Given the description of an element on the screen output the (x, y) to click on. 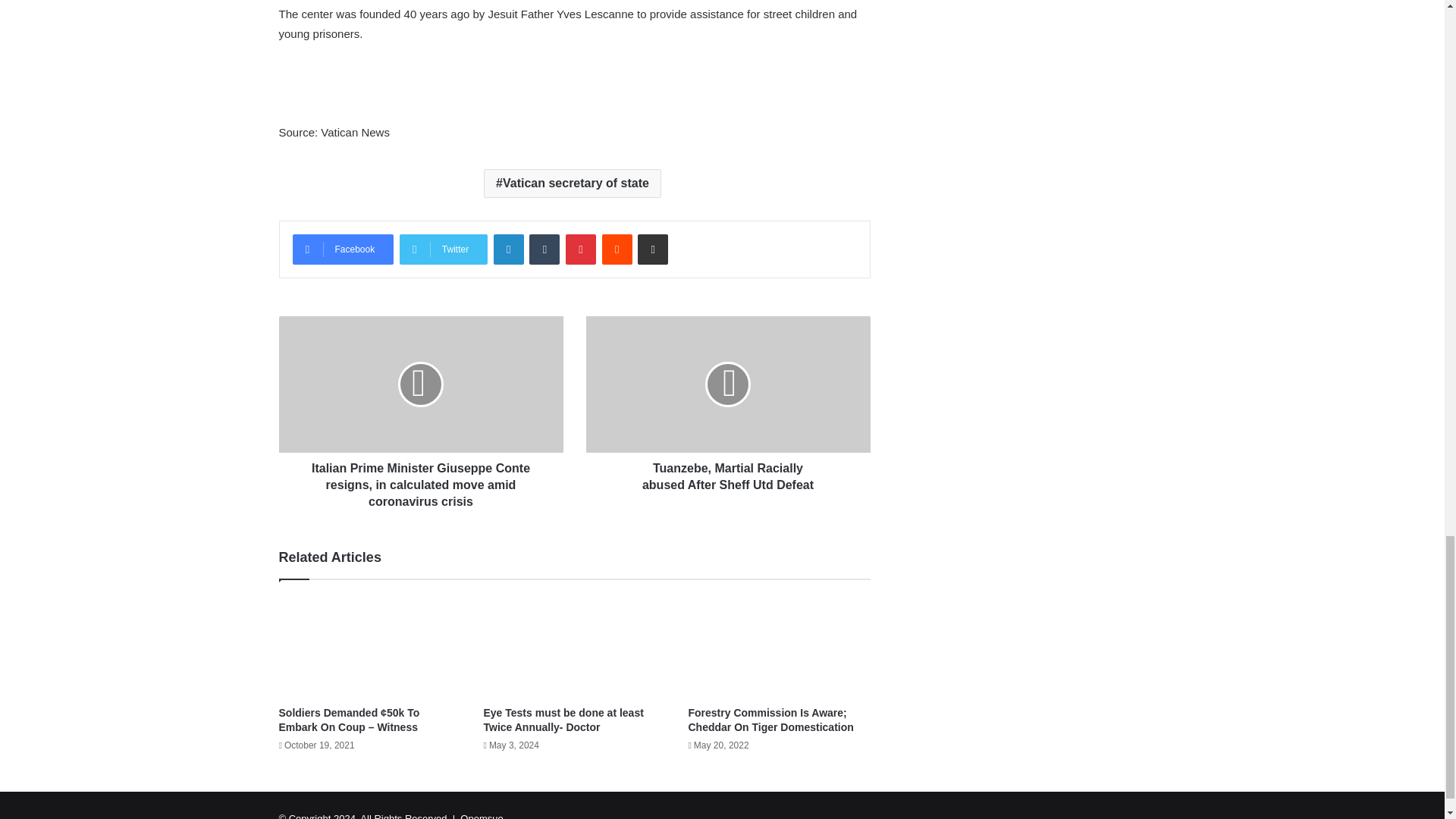
Tumblr (544, 249)
Vatican secretary of state (572, 183)
Facebook (343, 249)
Share via Email (652, 249)
Pinterest (580, 249)
Reddit (616, 249)
Facebook (343, 249)
LinkedIn (508, 249)
Twitter (442, 249)
